Given the description of an element on the screen output the (x, y) to click on. 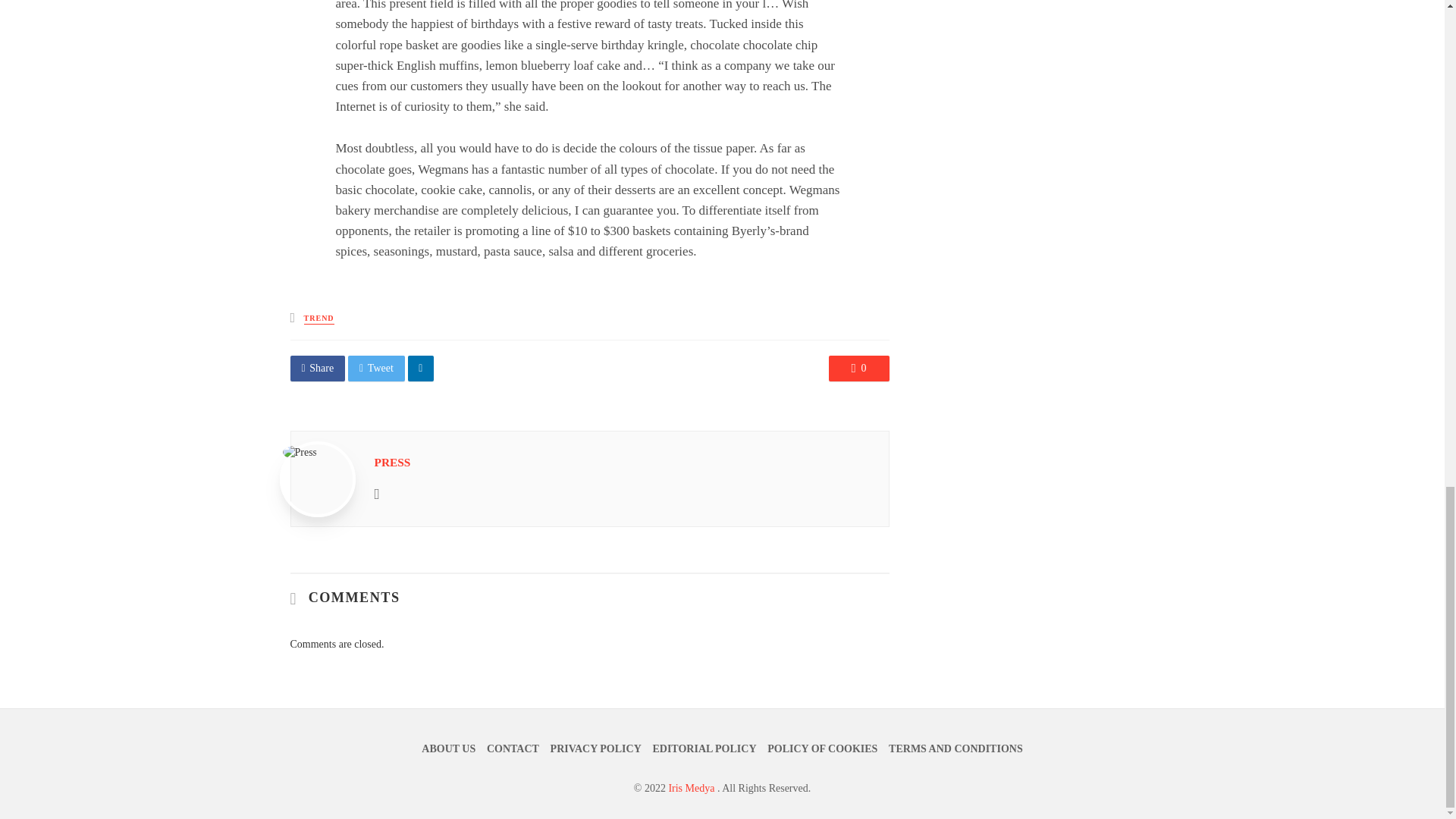
Share on Twitter (375, 368)
0 Comments (858, 368)
Share (317, 368)
PRESS (392, 461)
Share on Linkedin (420, 368)
TREND (319, 318)
Posts by Press (392, 461)
Share on Facebook (317, 368)
0 (858, 368)
Tweet (375, 368)
